Given the description of an element on the screen output the (x, y) to click on. 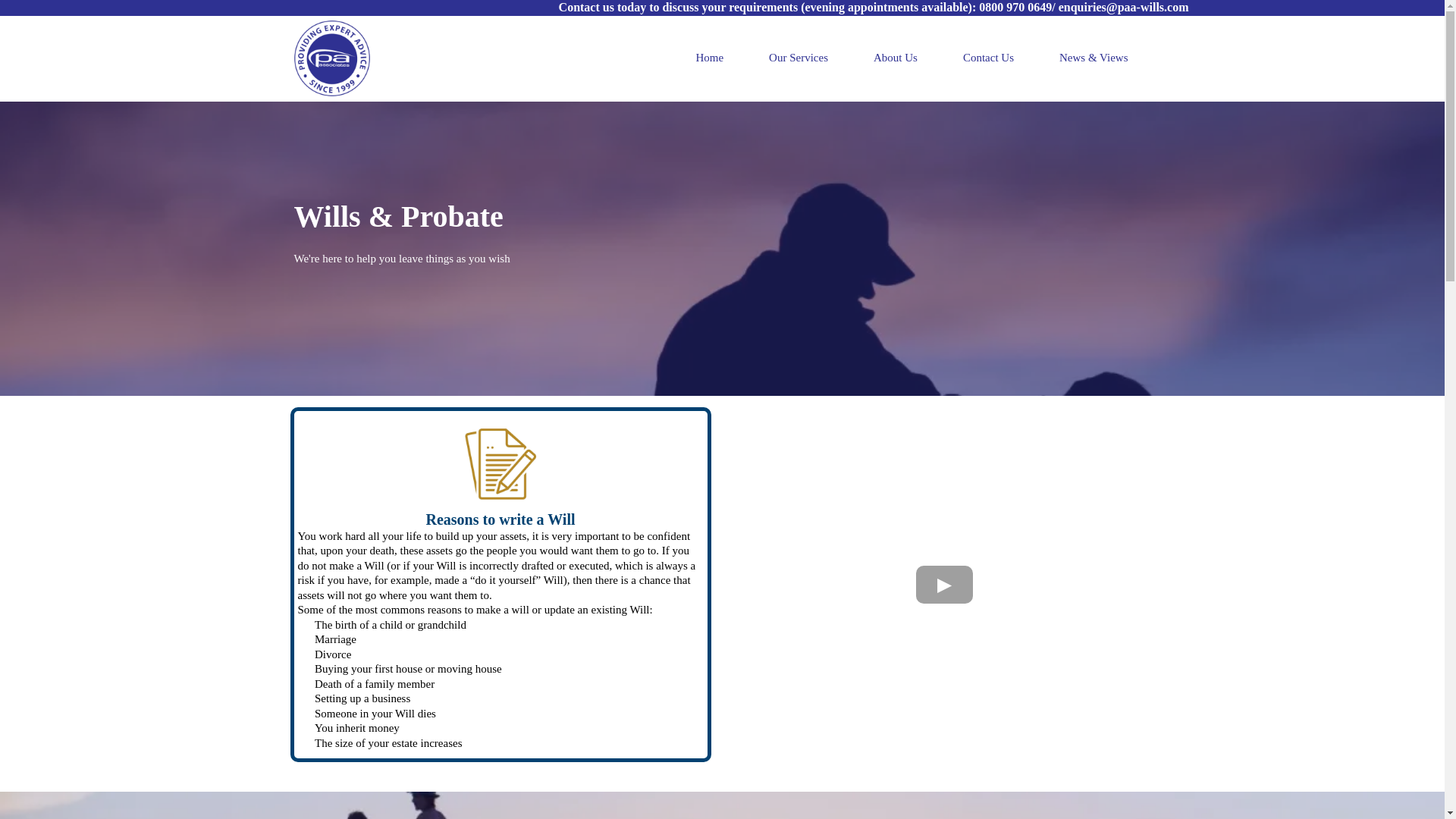
Our Services (797, 57)
Home (708, 57)
About Us (895, 57)
Contact Us (988, 57)
